Given the description of an element on the screen output the (x, y) to click on. 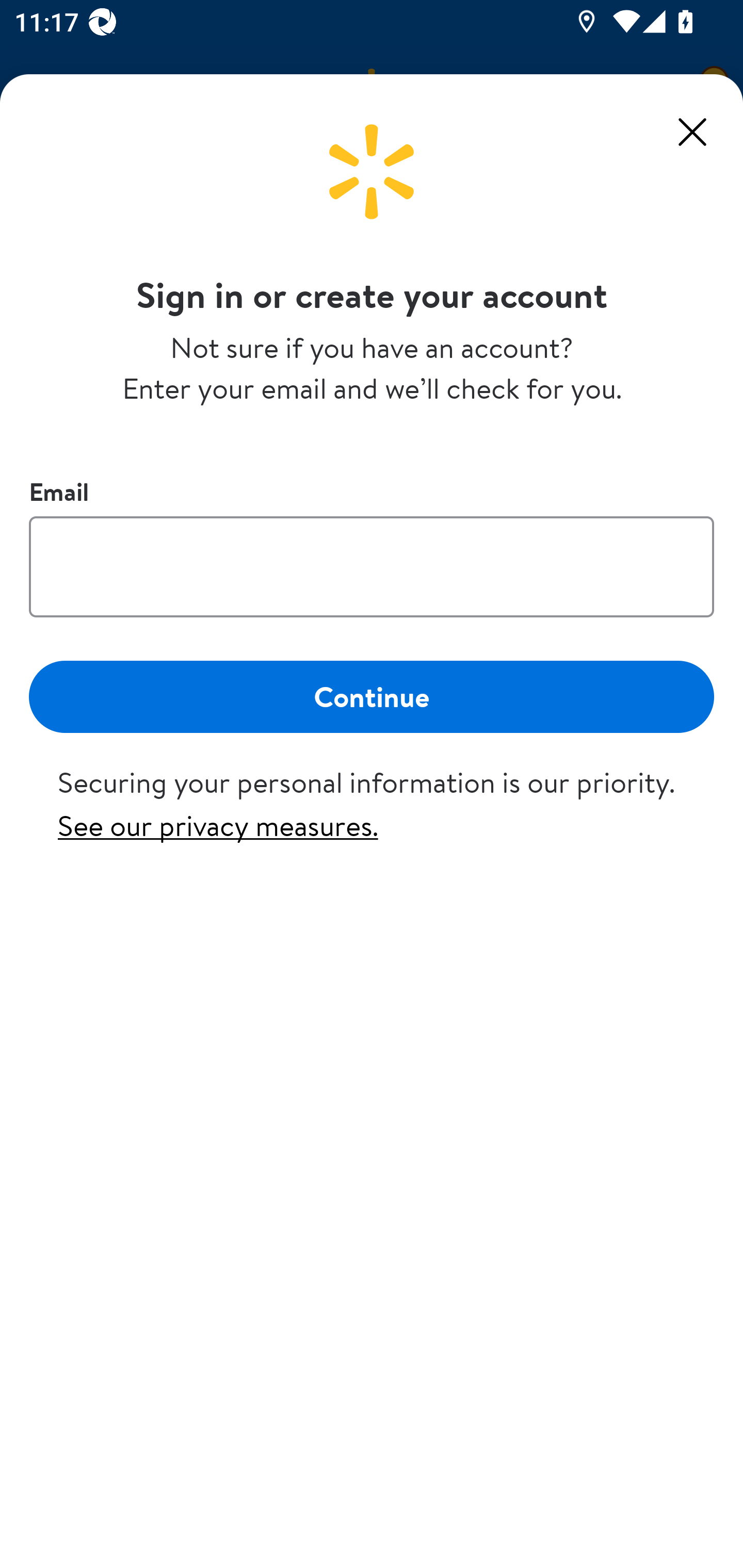
Close (692, 131)
Email (371, 566)
Continue (371, 696)
